Given the description of an element on the screen output the (x, y) to click on. 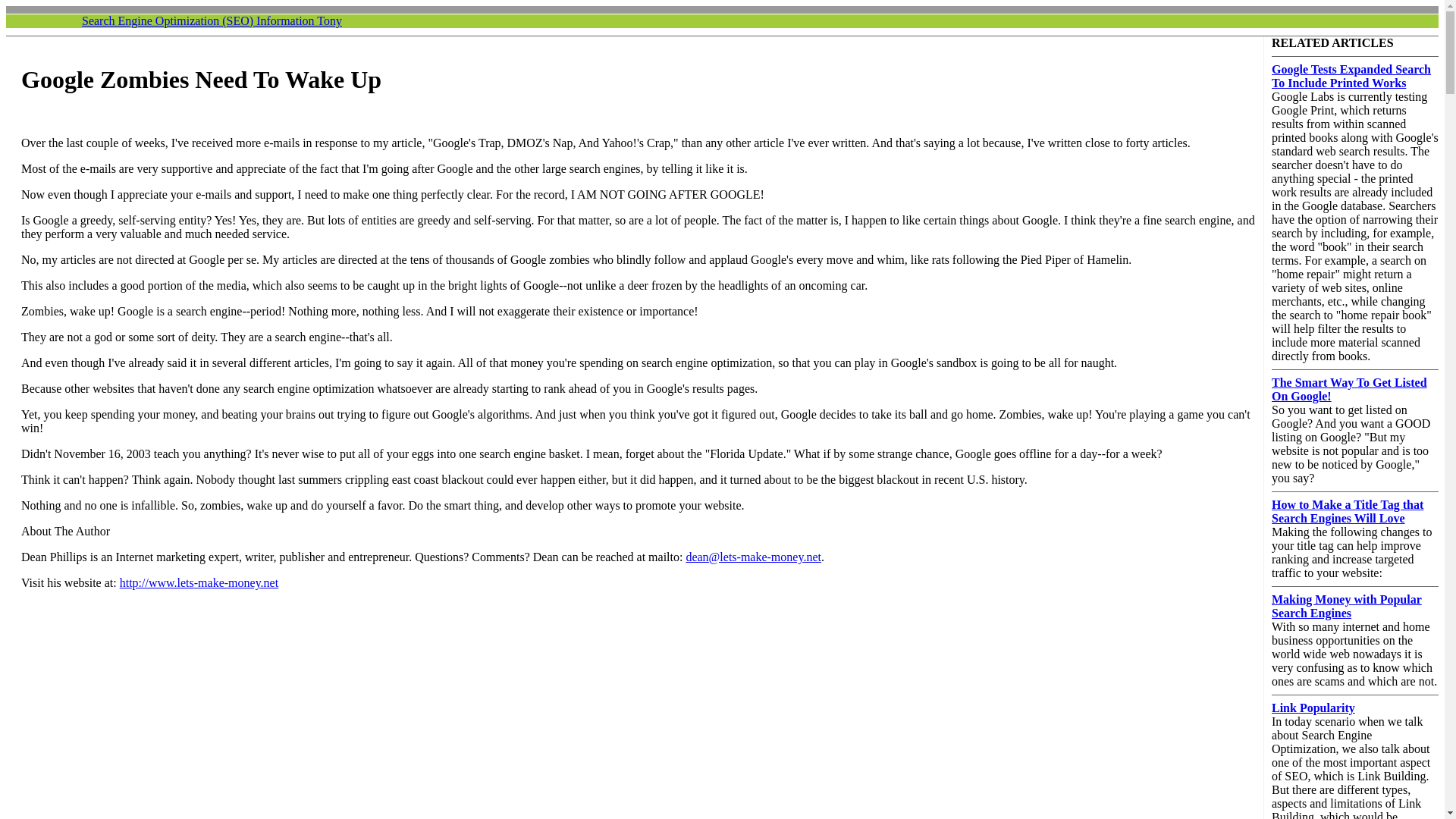
Making Money with Popular Search Engines (1346, 605)
Link Popularity (1313, 707)
Google Tests Expanded Search To Include Printed Works (1351, 76)
How to Make a Title Tag that Search Engines Will Love (1347, 510)
The Smart Way To Get Listed On Google! (1348, 388)
